Given the description of an element on the screen output the (x, y) to click on. 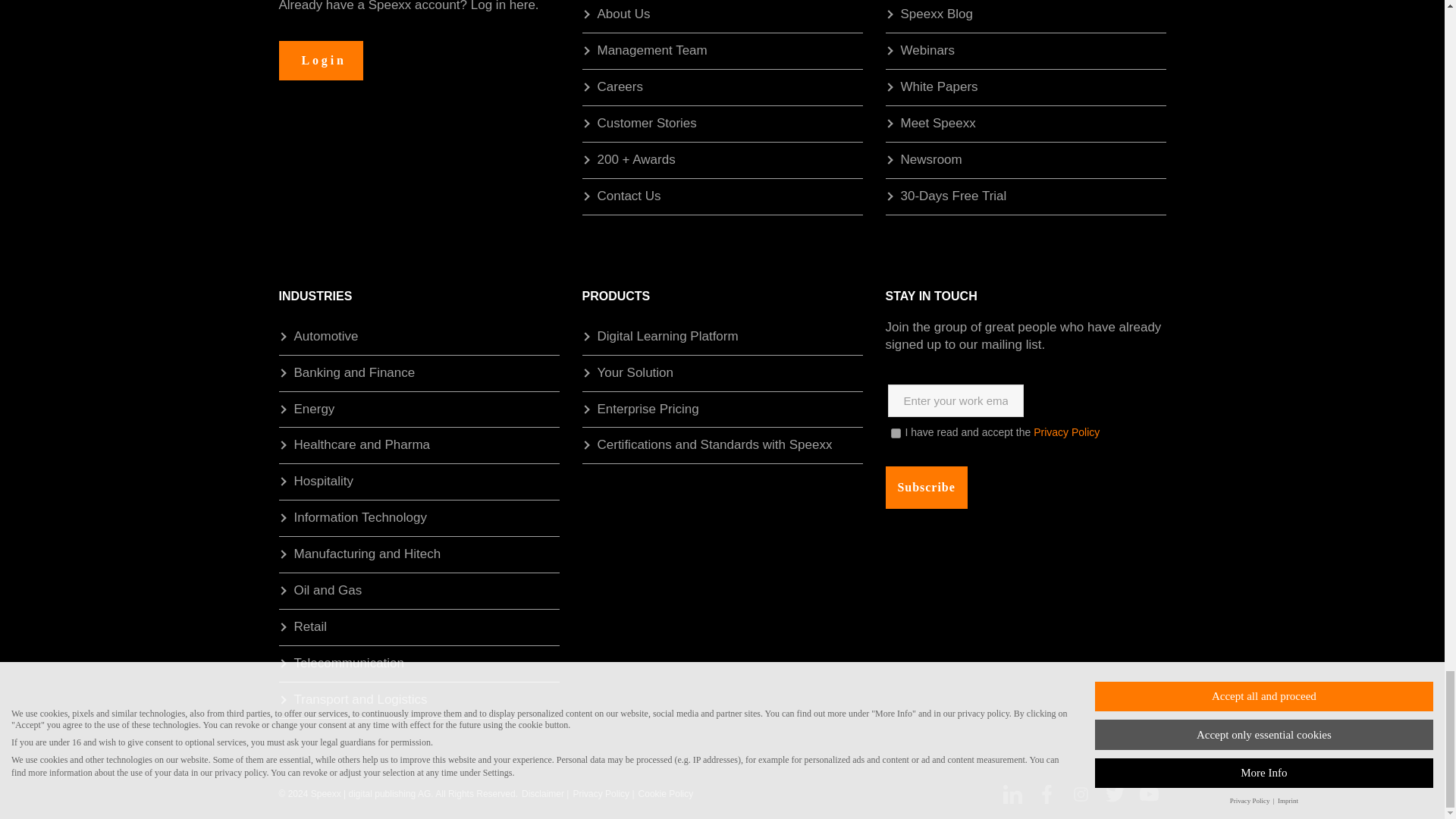
True (894, 433)
